Given the description of an element on the screen output the (x, y) to click on. 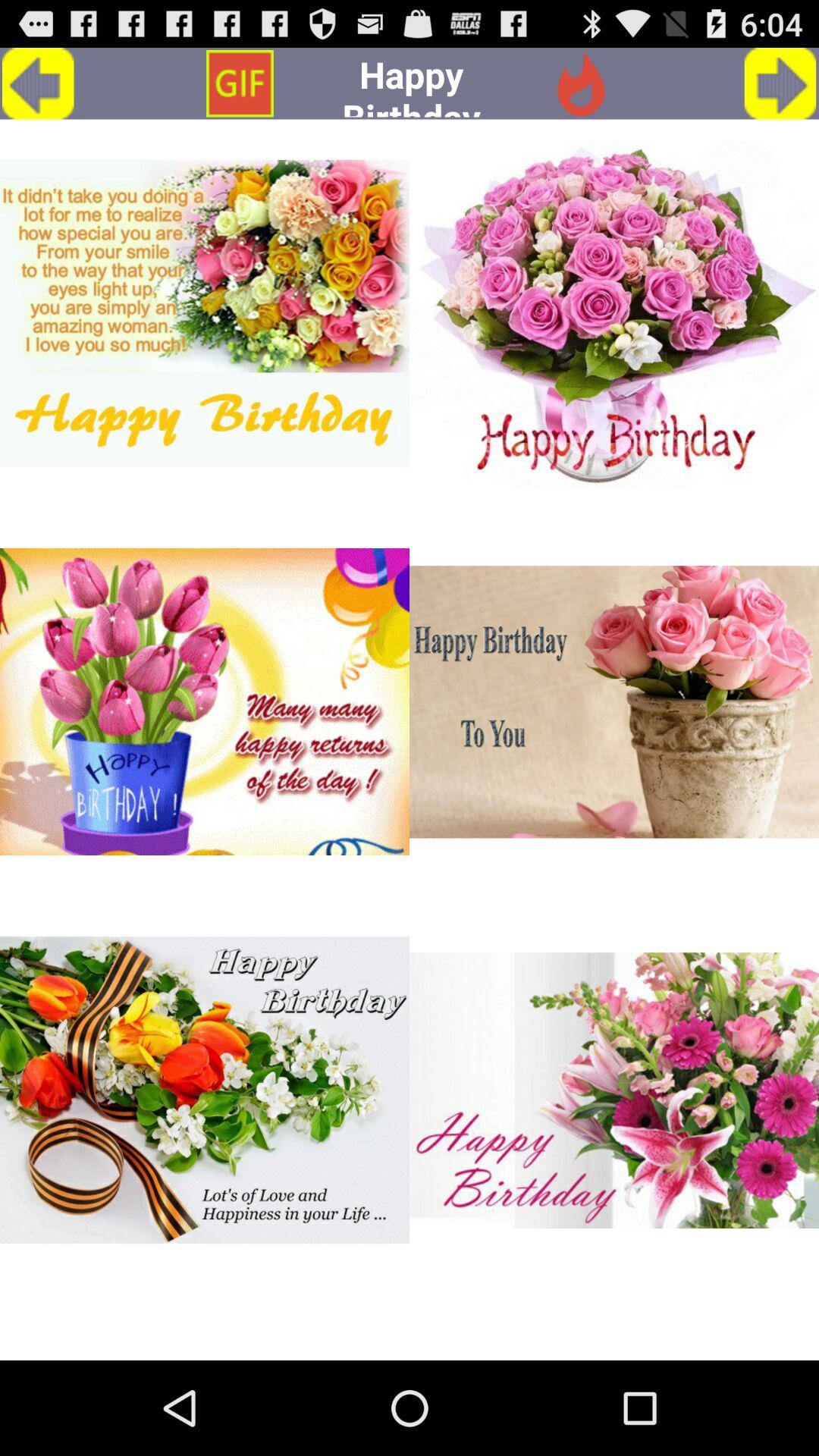
see flower image (614, 313)
